Given the description of an element on the screen output the (x, y) to click on. 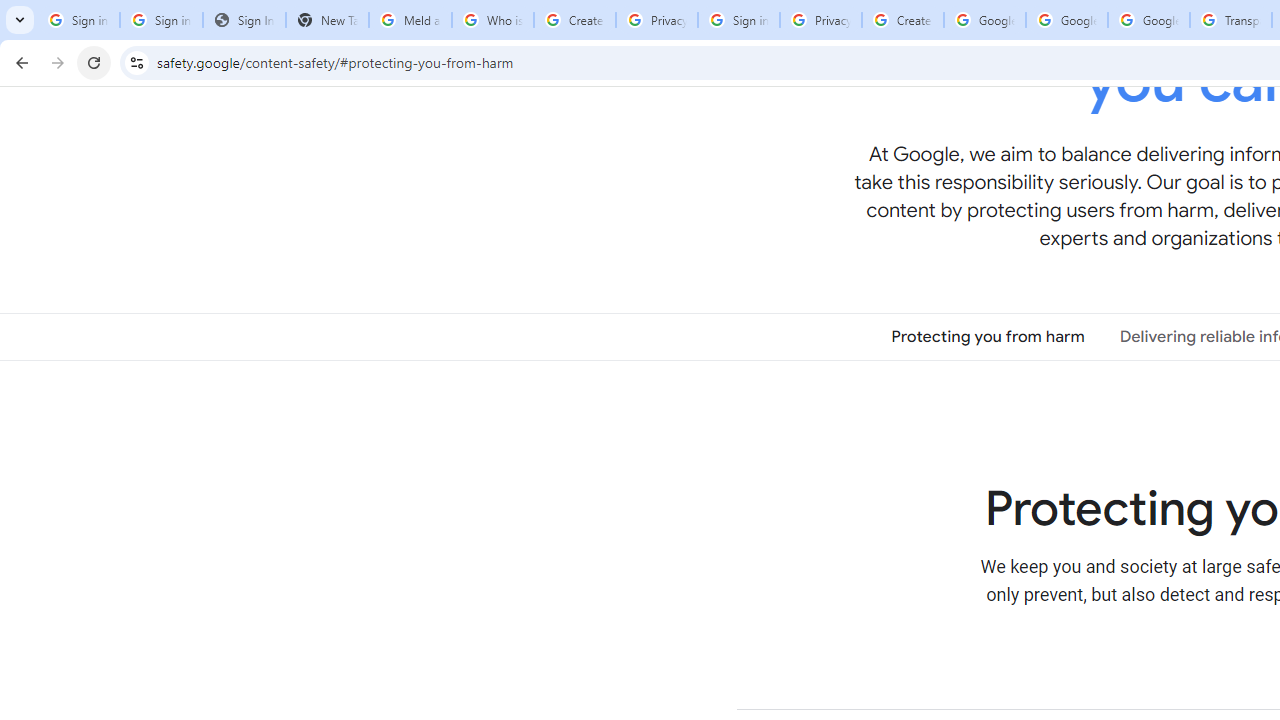
Protecting you from harm (987, 336)
Sign in - Google Accounts (738, 20)
Create your Google Account (902, 20)
Google Account (1149, 20)
New Tab (326, 20)
Sign in - Google Accounts (78, 20)
Who is my administrator? - Google Account Help (492, 20)
